Given the description of an element on the screen output the (x, y) to click on. 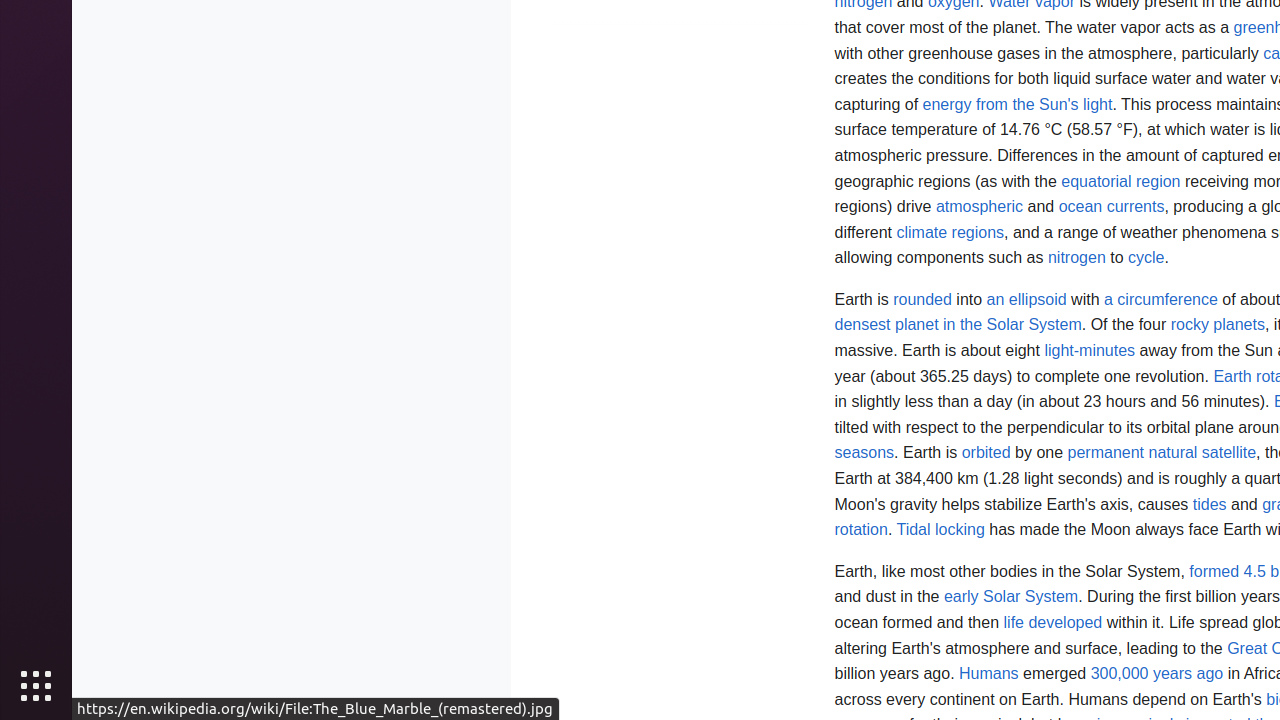
permanent Element type: link (1106, 453)
life developed Element type: link (1053, 622)
seasons Element type: link (864, 453)
300,000 years ago Element type: link (1157, 674)
atmospheric Element type: link (979, 207)
